Given the description of an element on the screen output the (x, y) to click on. 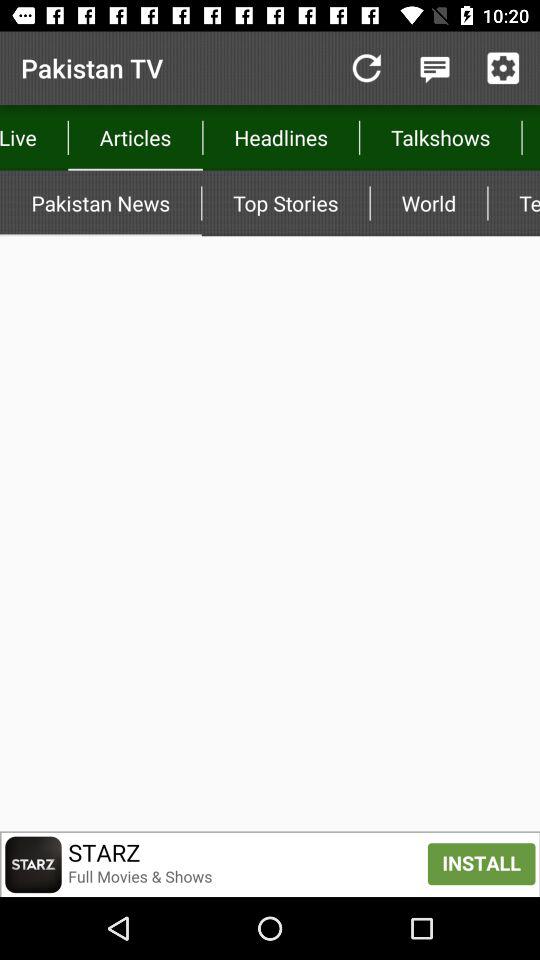
click to comment (434, 67)
